Given the description of an element on the screen output the (x, y) to click on. 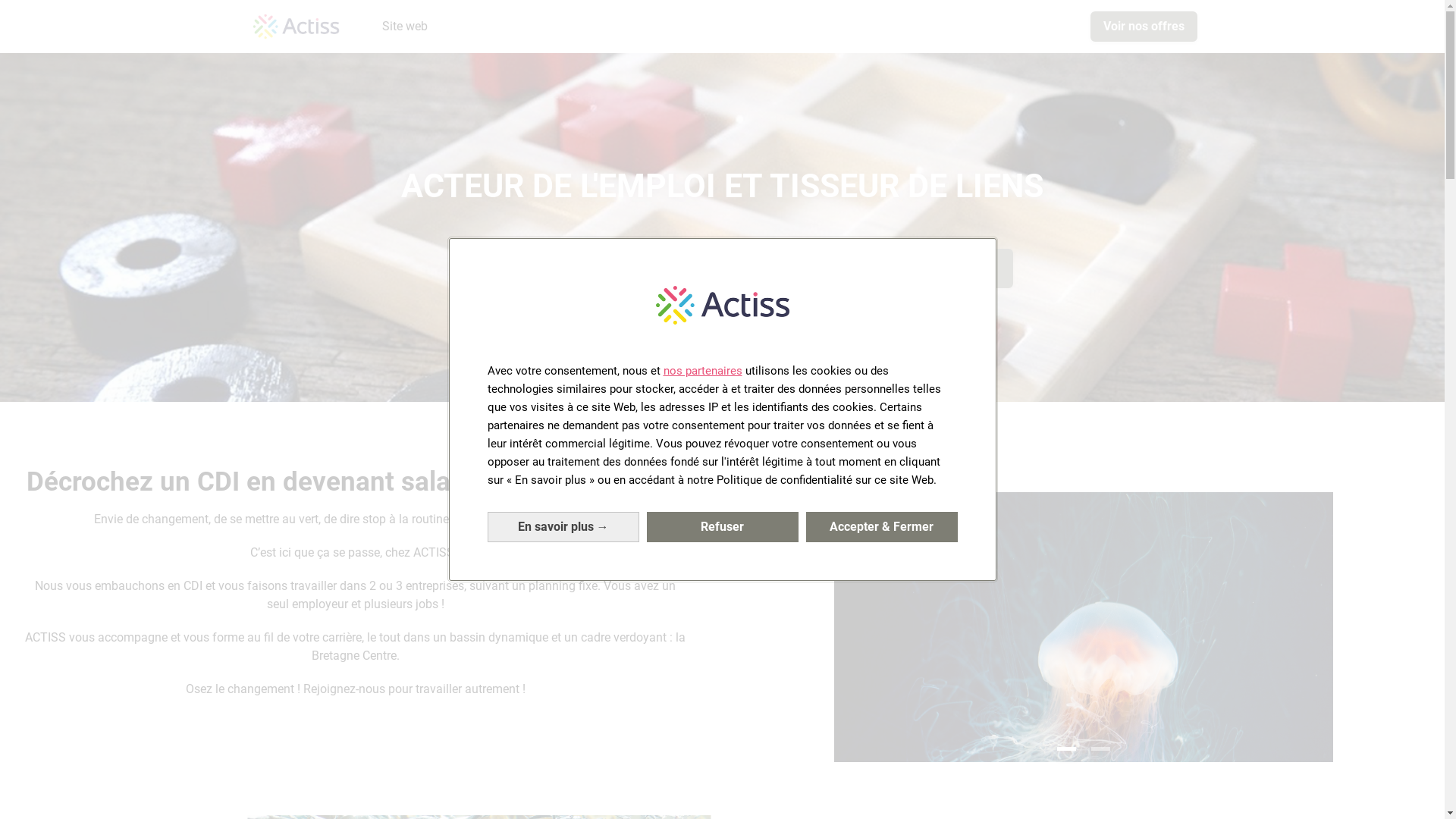
Voir nos offres Element type: text (1143, 26)
Refuser Element type: text (721, 526)
Accepter & Fermer Element type: text (881, 526)
nos partenaires Element type: text (701, 370)
Site web Element type: text (404, 26)
Voir les offres Element type: text (519, 268)
